Given the description of an element on the screen output the (x, y) to click on. 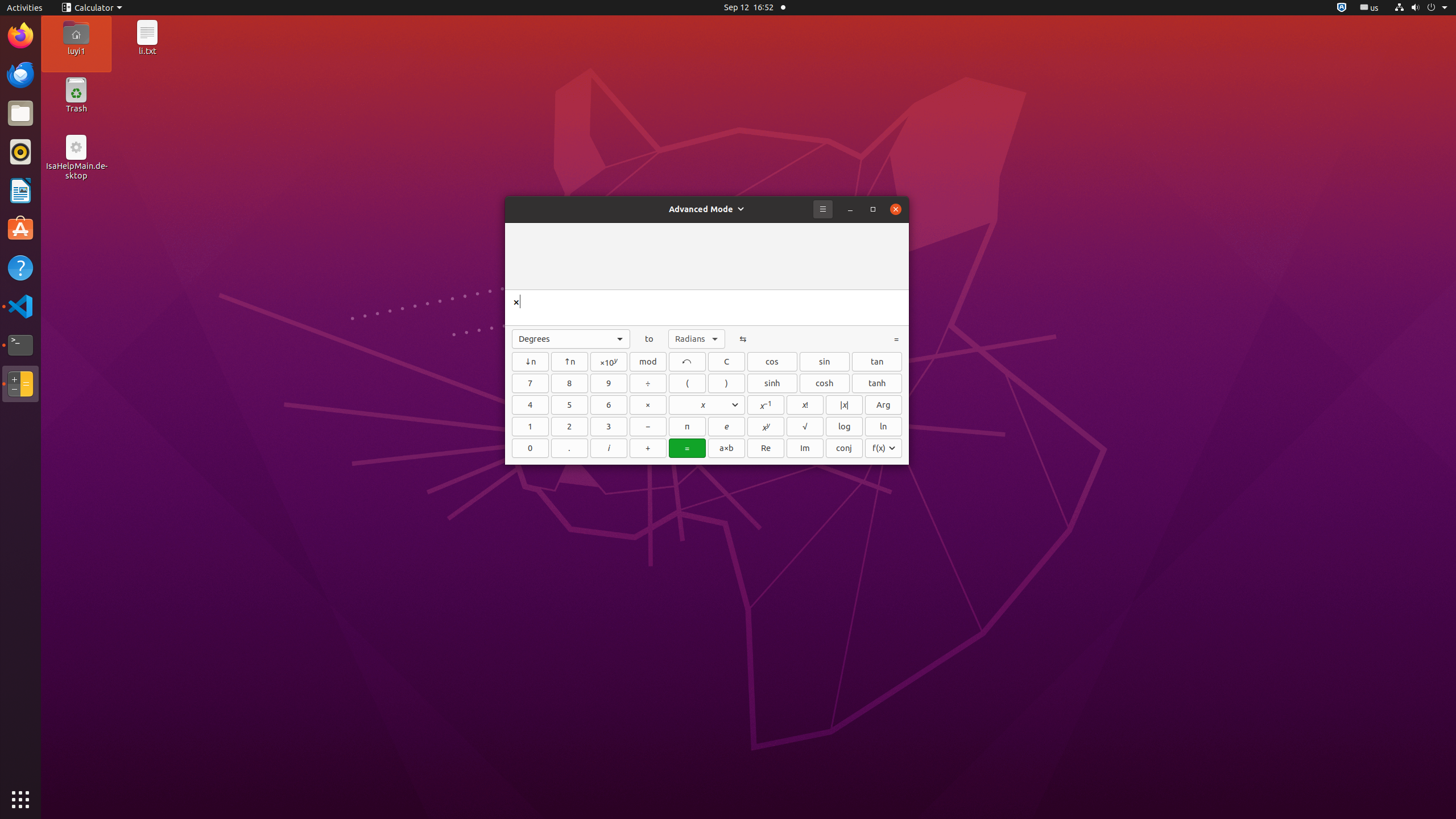
e Element type: push-button (726, 426)
Maximize Element type: push-button (872, 208)
6 Element type: push-button (608, 404)
9 Element type: push-button (608, 383)
Close Element type: push-button (895, 208)
